Given the description of an element on the screen output the (x, y) to click on. 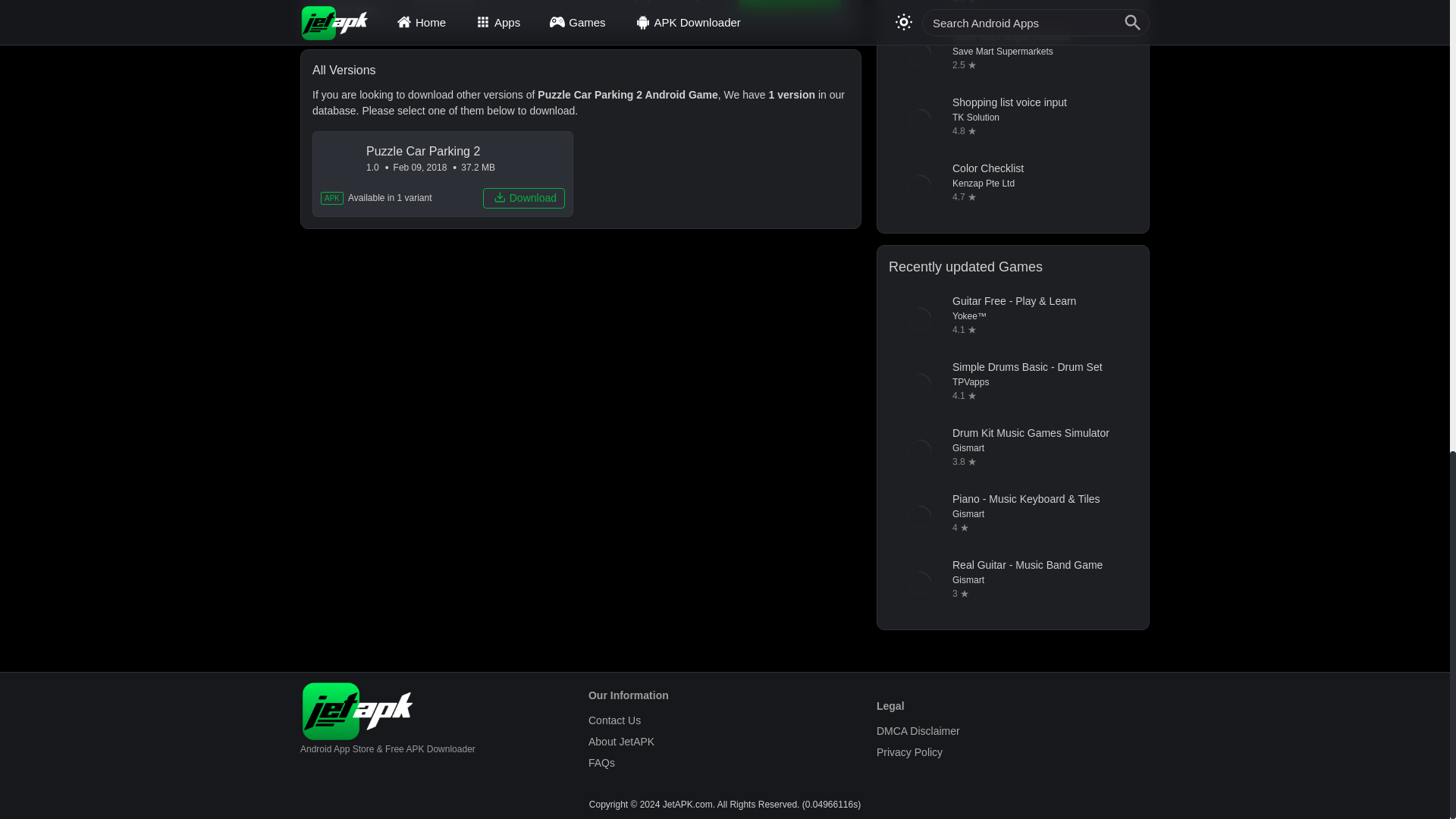
Dillons 71.3 Android APK (1012, 9)
Drum Kit Music Games Simulator 3.45.2 Android APK (1012, 451)
Shopping list voice input Latest Android APK (1012, 120)
Puzzle Car Parking 2 1.0 older version APK (443, 174)
Simple Drums Basic - Drum Set 1.3.9 Android APK (1012, 384)
Color Checklist 1.8 Android APK (1012, 186)
Save Mart Supermarkets 4.8.3 Android APK (1012, 54)
